Given the description of an element on the screen output the (x, y) to click on. 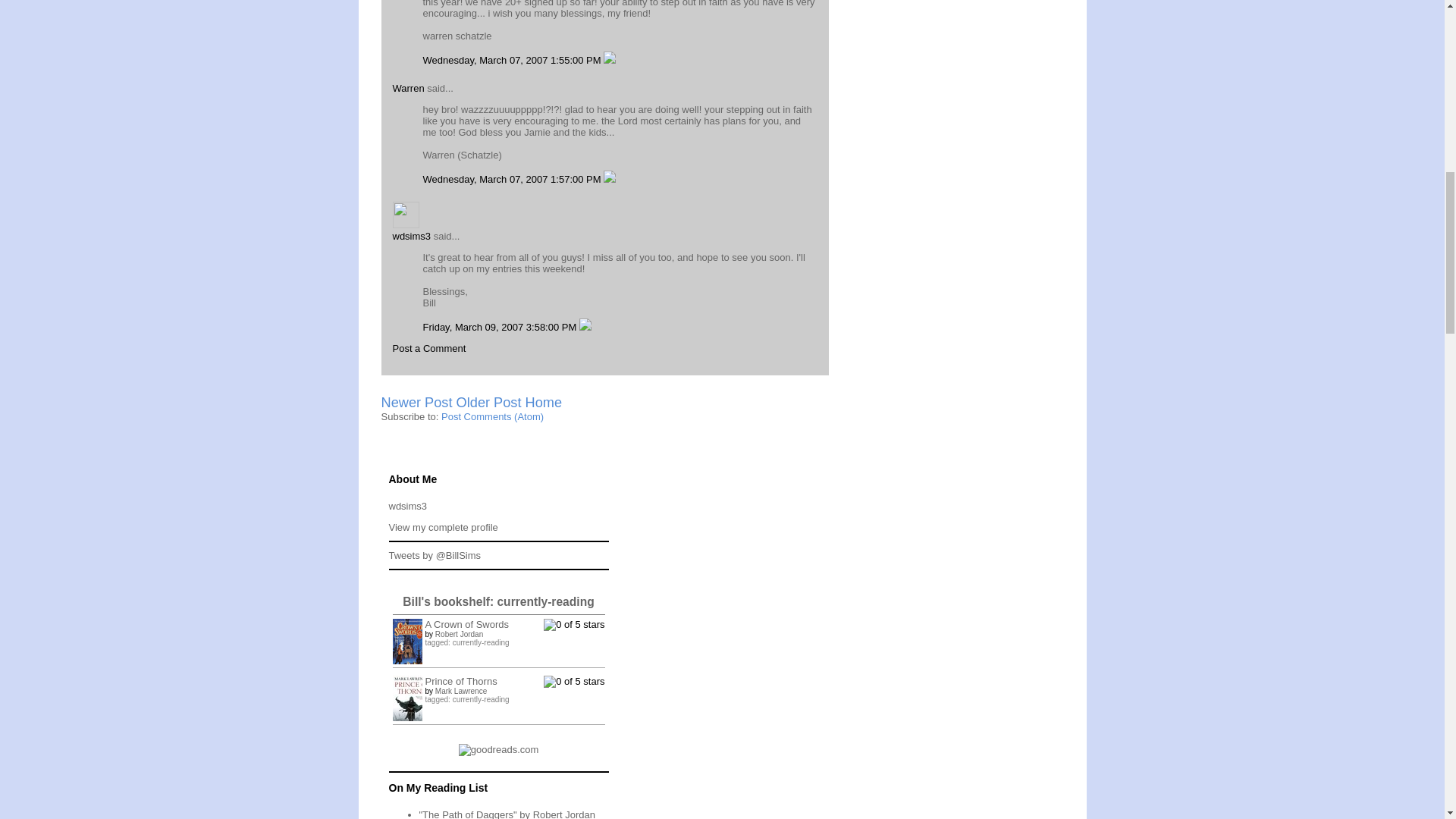
Bill's bookshelf: currently-reading (498, 601)
View my complete profile (442, 527)
Post a Comment (429, 348)
Wednesday, March 07, 2007 1:55:00 PM (513, 60)
Older Post (489, 402)
Wednesday, March 07, 2007 1:57:00 PM (513, 179)
Friday, March 09, 2007 3:58:00 PM (501, 326)
wdsims3 (411, 235)
Home (543, 402)
wdsims3 (407, 505)
comment permalink (513, 60)
Newer Post (415, 402)
Warren (409, 88)
Delete Comment (609, 60)
Delete Comment (609, 179)
